Given the description of an element on the screen output the (x, y) to click on. 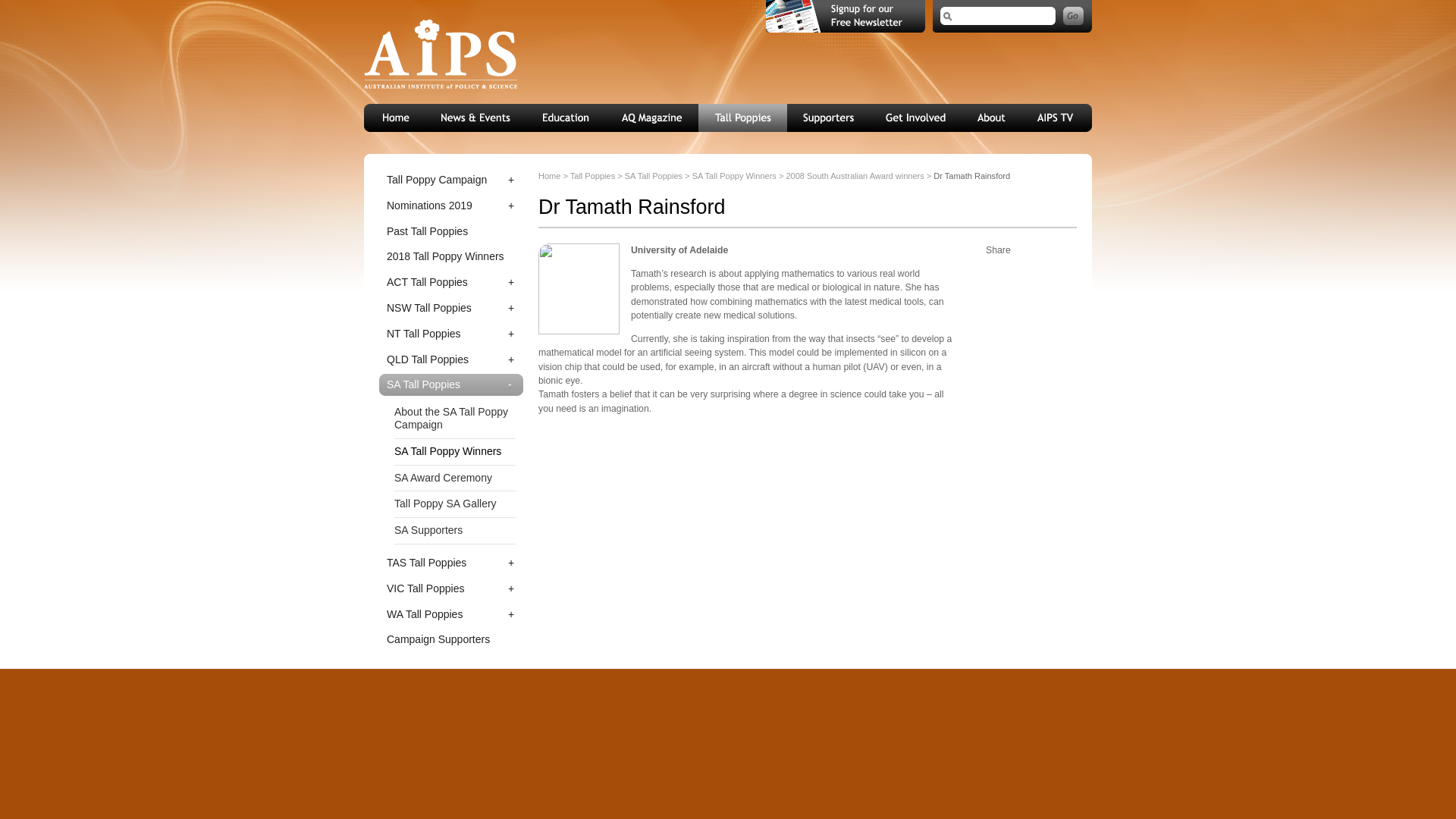
Education (565, 117)
About (992, 117)
Get Involved (916, 117)
AQ Magazine (651, 117)
Signup for our Free Newsleter (844, 16)
2018 Tall Poppy Winners (450, 256)
Dr Tamath Rainsford (579, 288)
Past Tall Poppies (450, 231)
Home (395, 117)
